Given the description of an element on the screen output the (x, y) to click on. 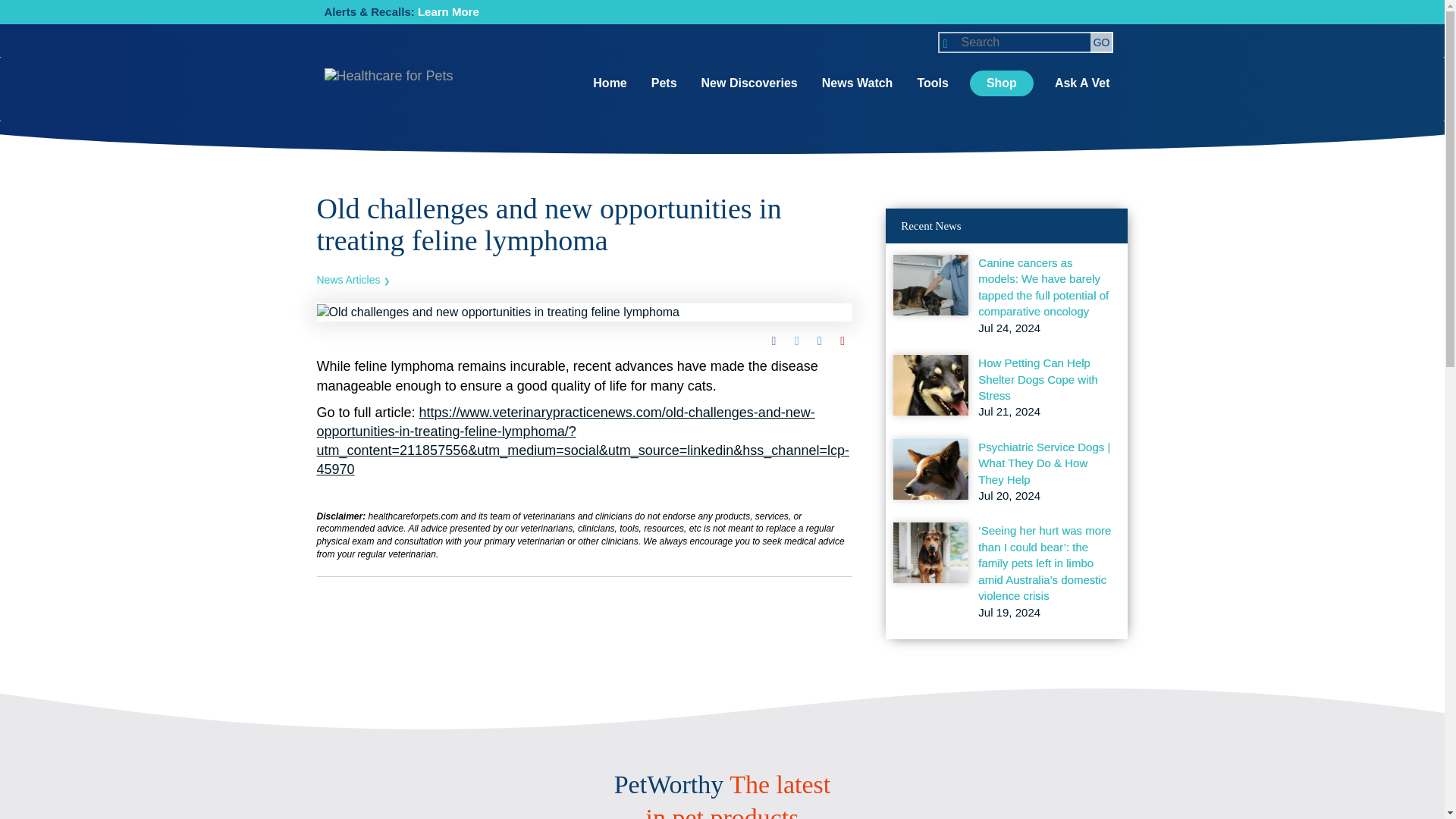
Go (1101, 42)
Go (1101, 42)
Ask A Vet (1082, 83)
Tools (932, 83)
Search for: (1024, 42)
Home (608, 83)
Shop (1001, 83)
News Watch (857, 83)
Pets (663, 83)
News Articles (353, 279)
Go (1101, 42)
Healthcare for Pets (388, 90)
New Discoveries (749, 83)
